Given the description of an element on the screen output the (x, y) to click on. 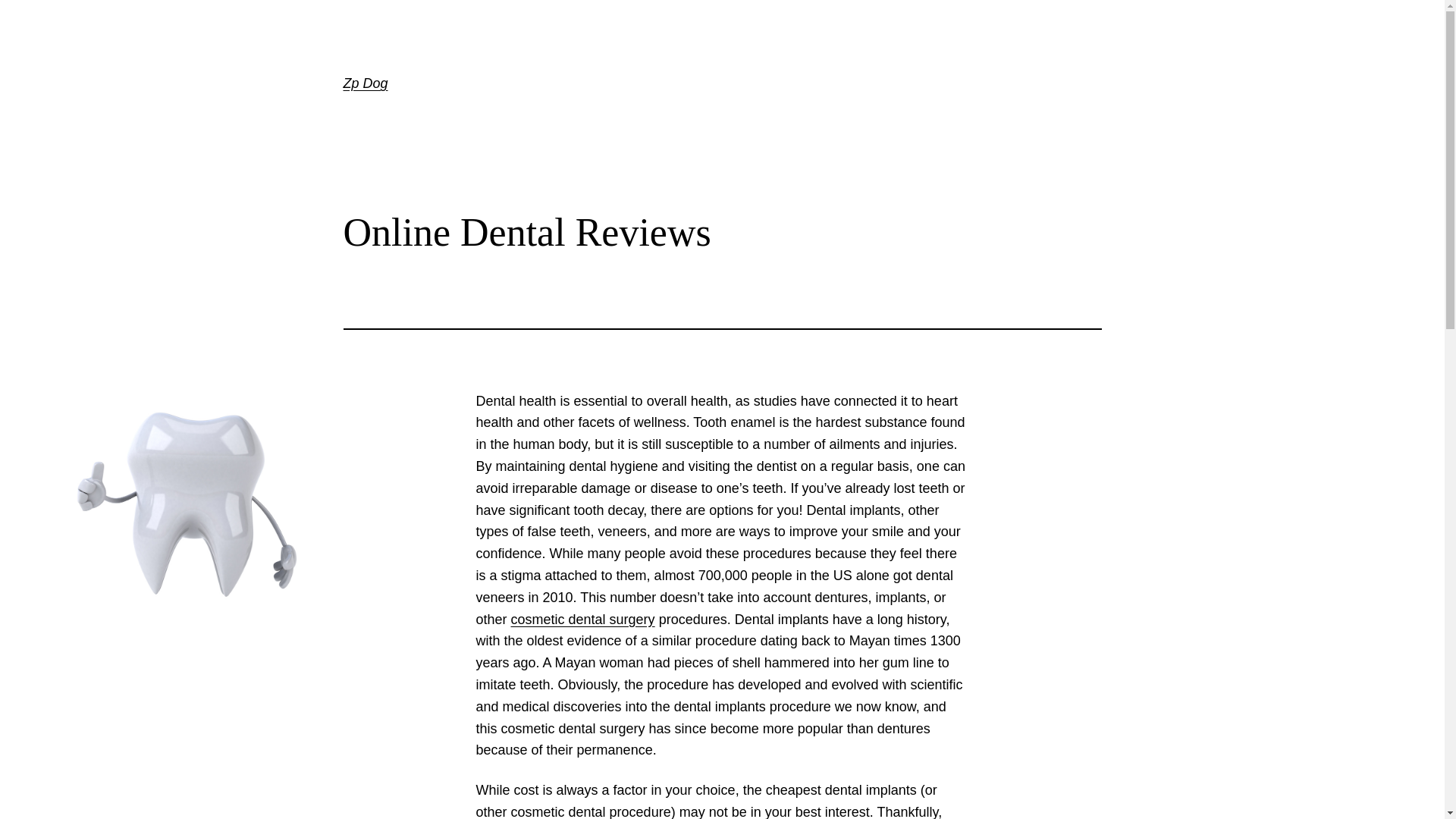
cosmetic dental surgery (583, 619)
See more about How much are dentures (583, 619)
Zp Dog (364, 83)
